Given the description of an element on the screen output the (x, y) to click on. 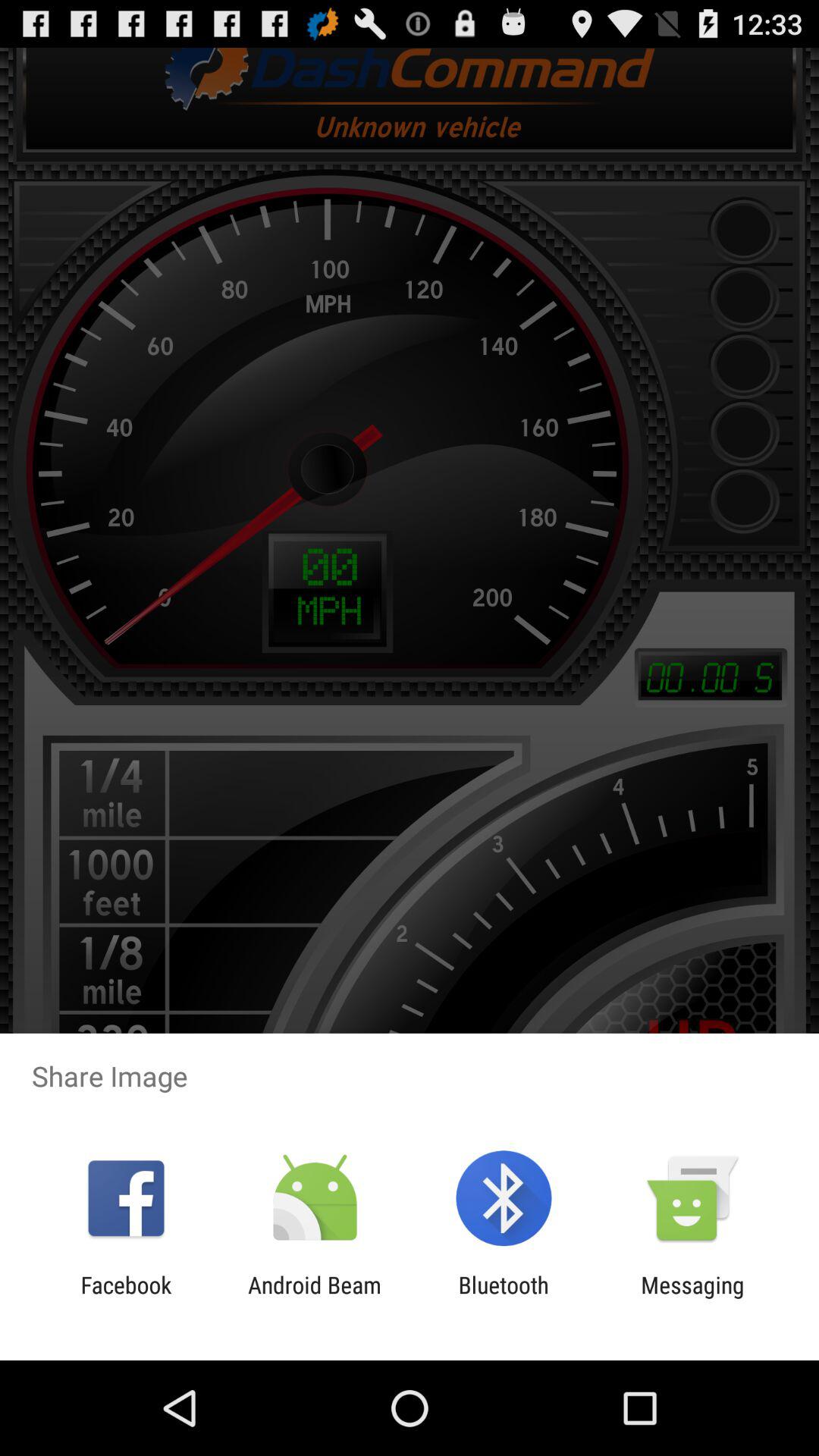
jump to the facebook app (125, 1298)
